Given the description of an element on the screen output the (x, y) to click on. 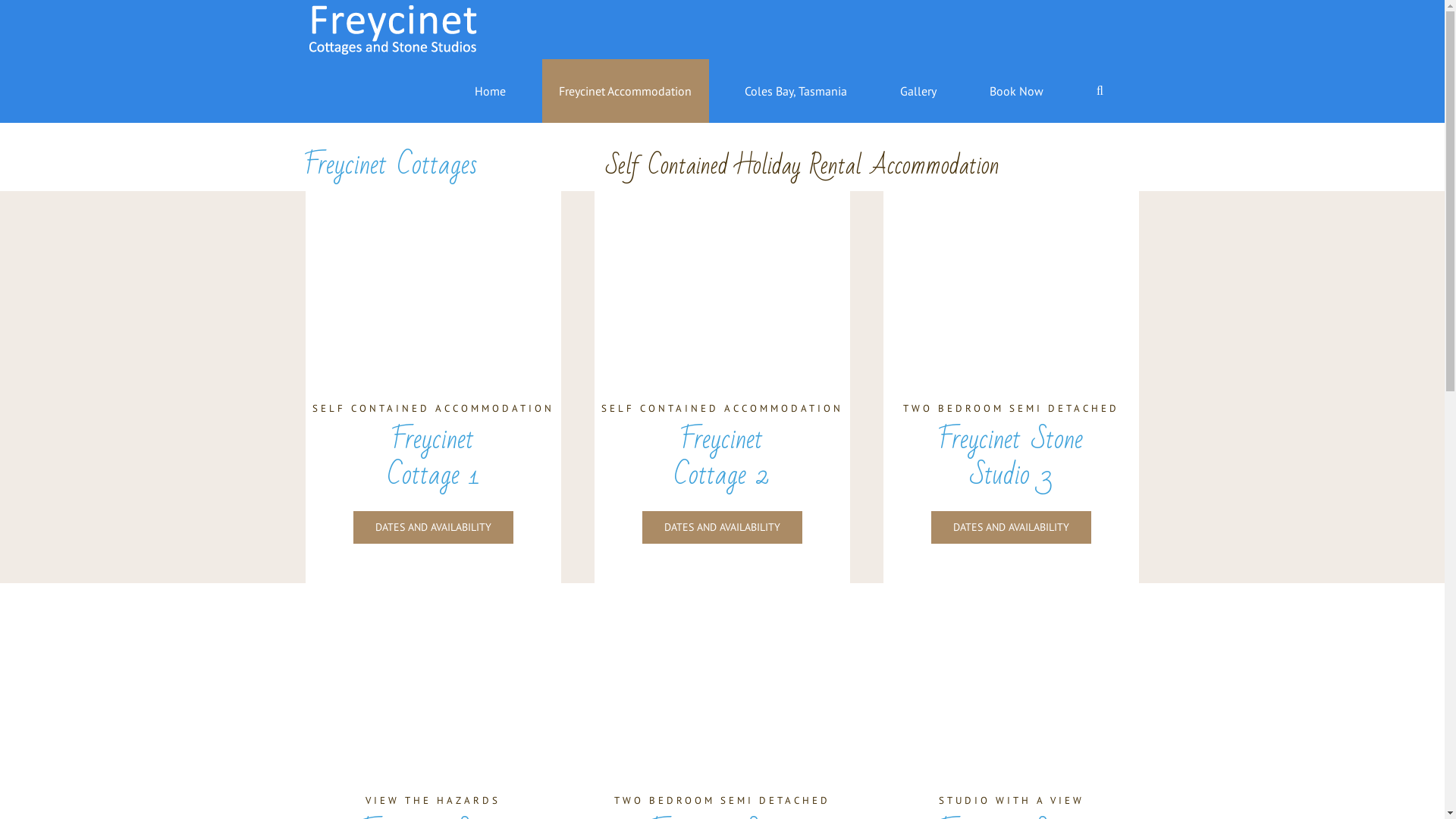
freycinet-cottages2-DSCF1153-HDR Element type: hover (722, 276)
Home Element type: text (490, 90)
Book Now Element type: text (1016, 90)
HVSC-DSCF1295-freycinett Element type: hover (722, 668)
Freycinet Accommodation Element type: text (625, 90)
hazards-view-studio-DSCF1345 Element type: hover (432, 668)
twin-accommodation-CBS Element type: hover (1011, 668)
FC1-DSCF1180-HDR Element type: hover (432, 276)
DATES AND AVAILABILITY Element type: text (433, 527)
Gallery Element type: text (918, 90)
Coles Bay, Tasmania Element type: text (796, 90)
DATES AND AVAILABILITY Element type: text (1011, 527)
Search Element type: hover (1099, 90)
HVSC-DSCF1270-freycinet Element type: hover (1011, 276)
DATES AND AVAILABILITY Element type: text (722, 527)
